Given the description of an element on the screen output the (x, y) to click on. 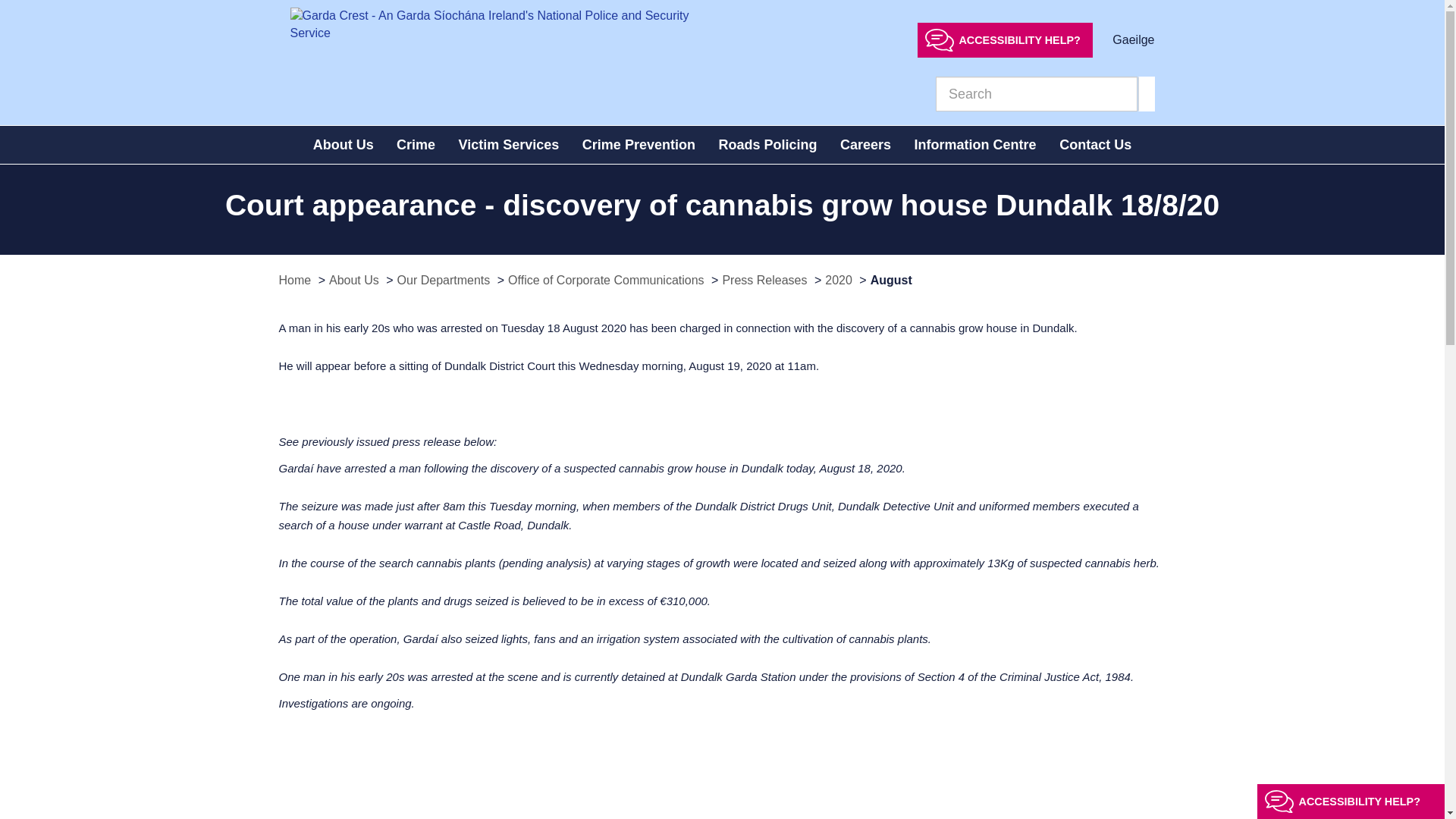
About Us (343, 144)
ACCESSIBILITY HELP? (1005, 39)
Crime (415, 144)
Gaeilge (1133, 39)
